Given the description of an element on the screen output the (x, y) to click on. 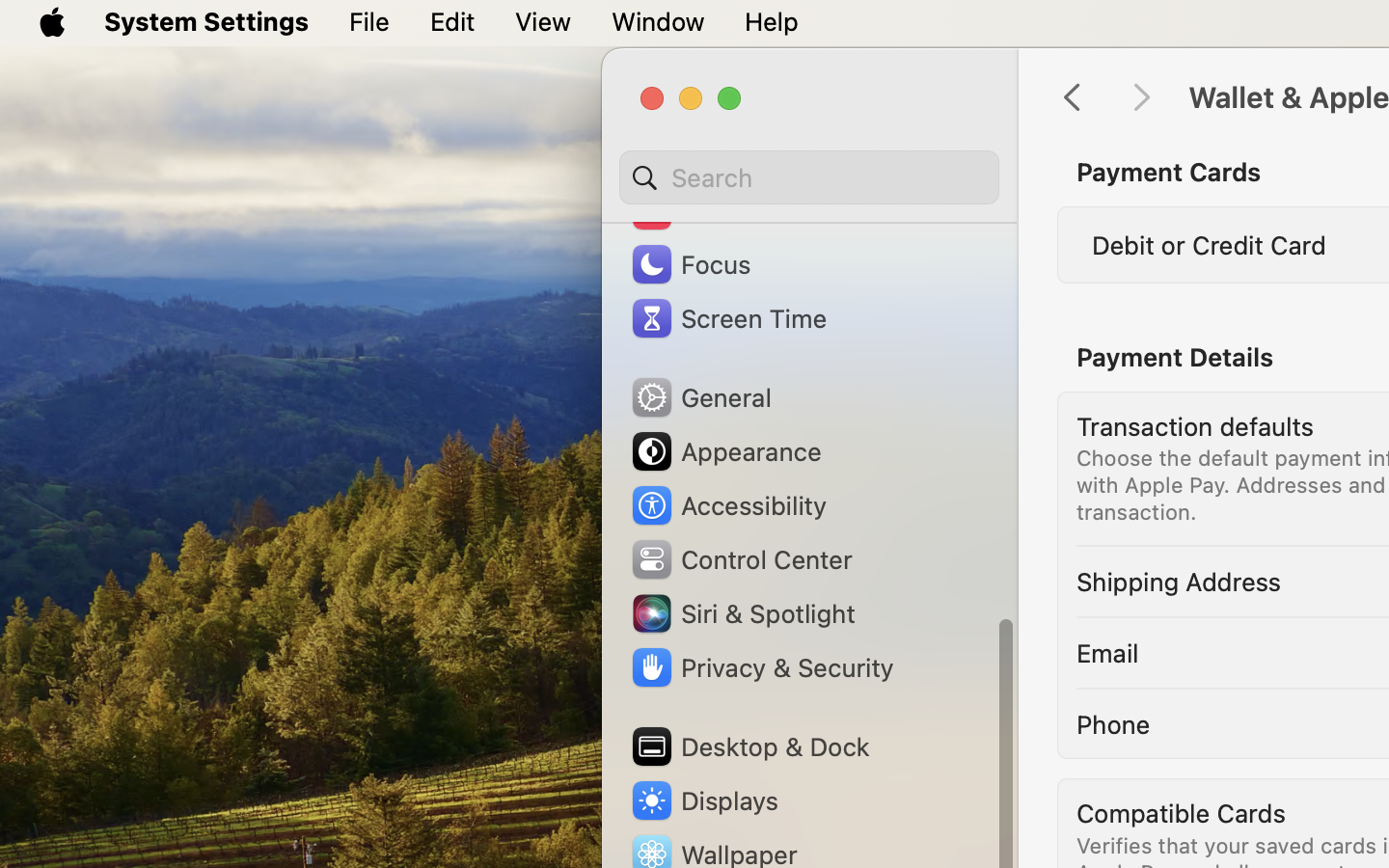
General Element type: AXStaticText (699, 397)
Shipping Address Element type: AXStaticText (1178, 580)
Accessibility Element type: AXStaticText (727, 505)
Transaction defaults Element type: AXStaticText (1194, 425)
Appearance Element type: AXStaticText (724, 451)
